Given the description of an element on the screen output the (x, y) to click on. 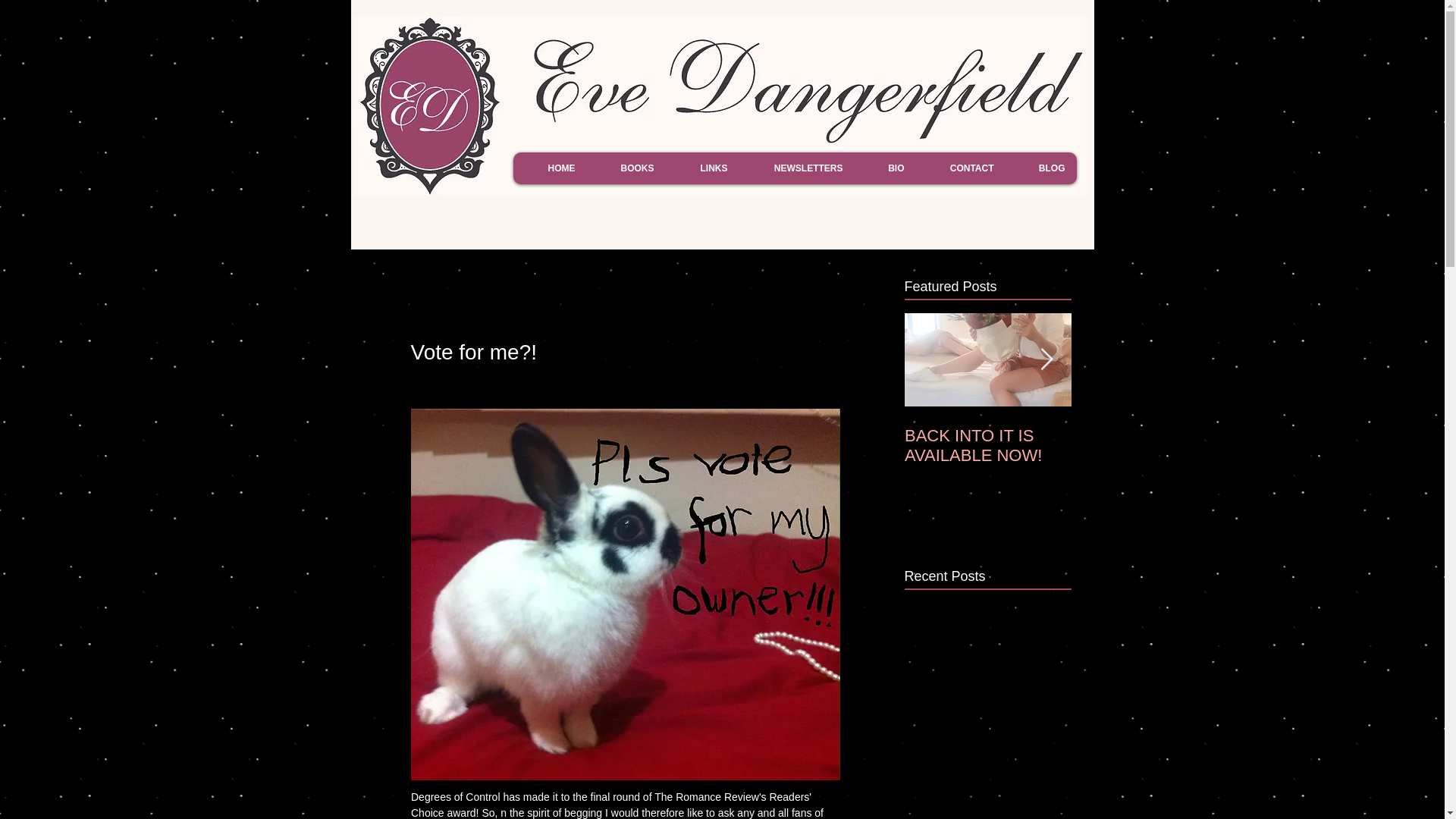
LINKS (702, 168)
BIO (884, 168)
HOME (549, 168)
CONTACT (960, 168)
BLOG (1041, 168)
NEWSLETTERS (795, 168)
BACK INTO IT IS AVAILABLE NOW! (987, 445)
Captivated is NOW available on AUDIBLE (1153, 445)
BOOKS (625, 168)
